Given the description of an element on the screen output the (x, y) to click on. 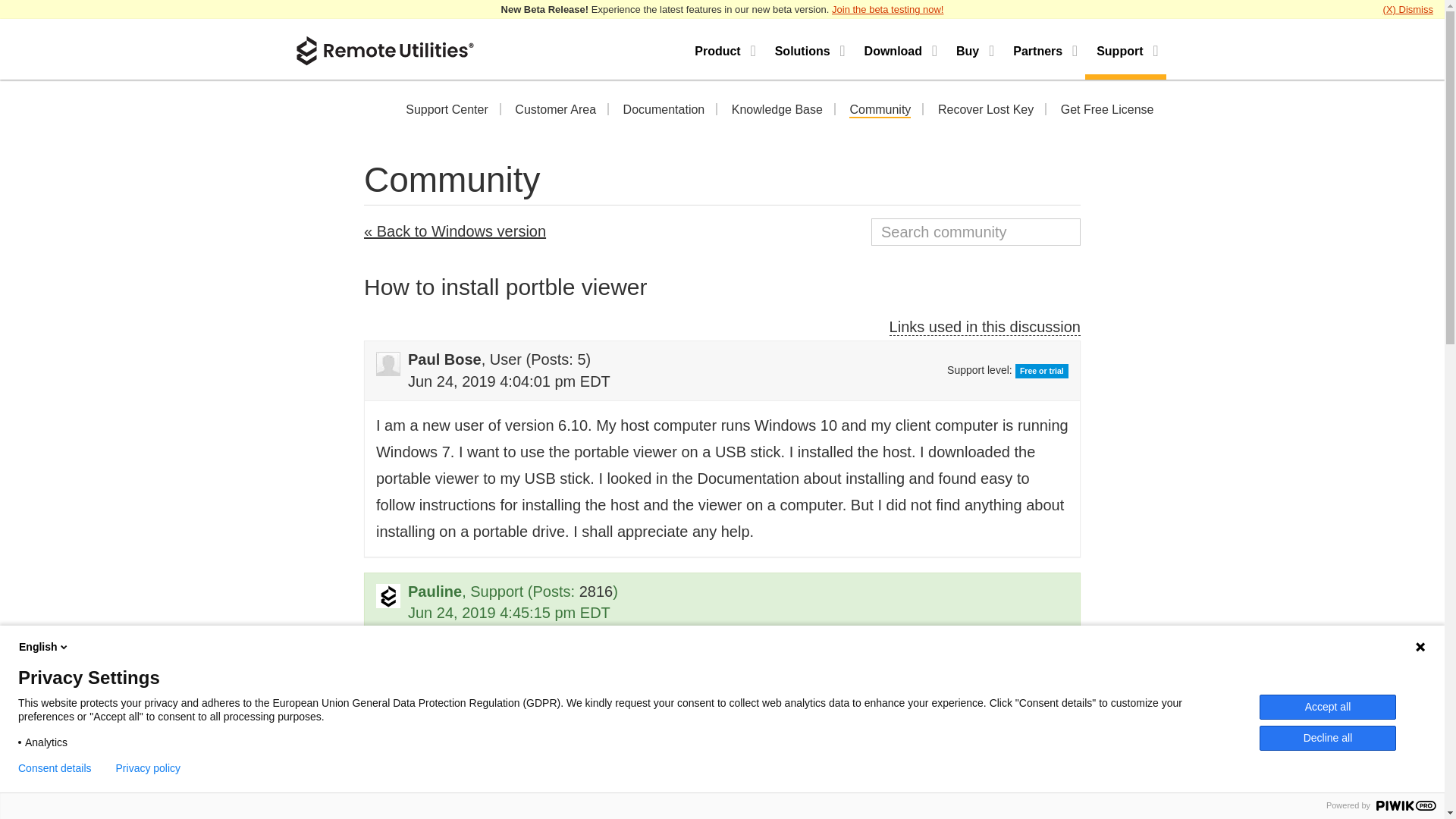
Piwik PRO (1405, 805)
